Given the description of an element on the screen output the (x, y) to click on. 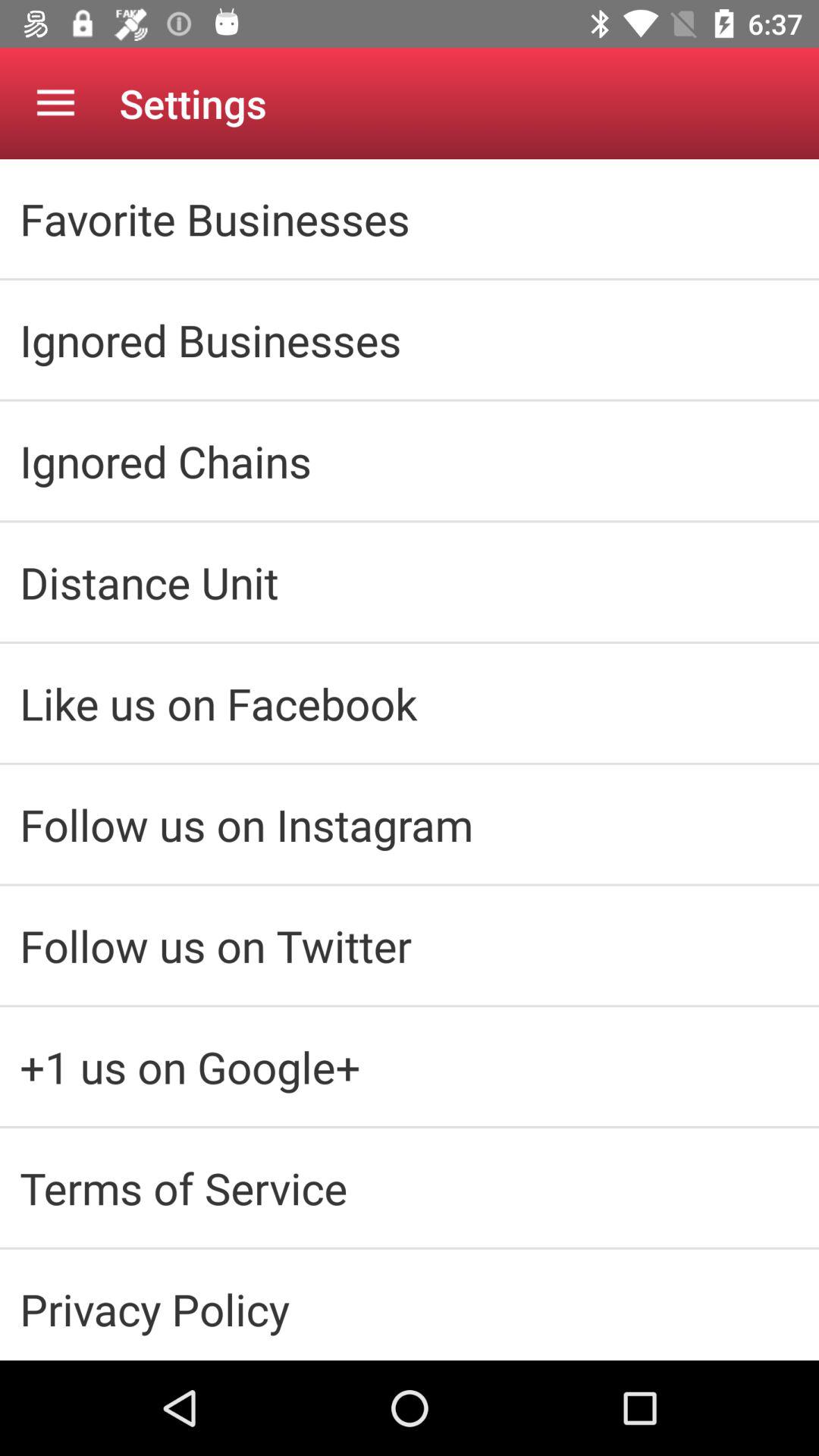
tap icon below the 1 us on icon (409, 1187)
